Given the description of an element on the screen output the (x, y) to click on. 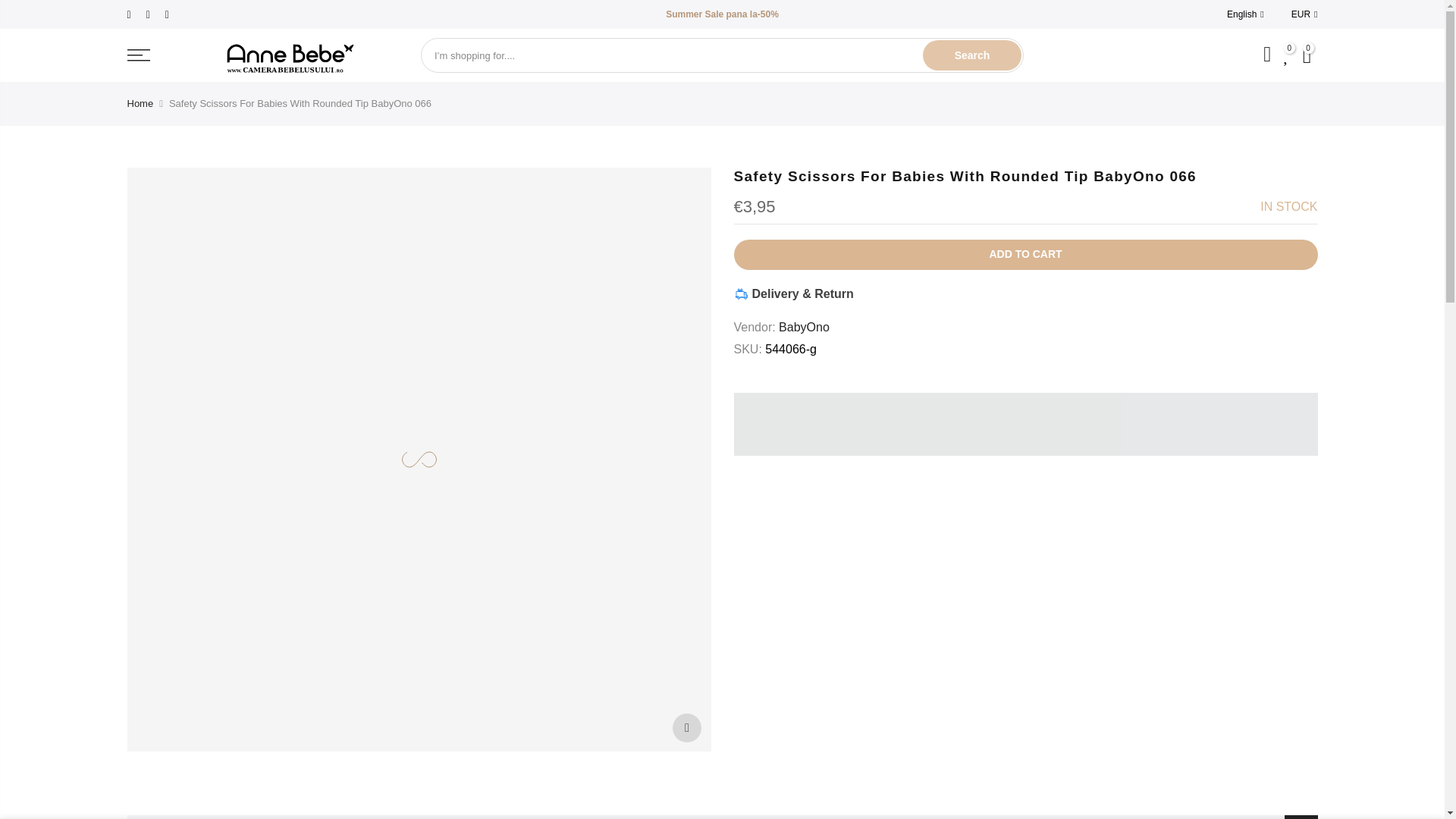
BabyOno (803, 327)
BabyOno (803, 327)
Search (972, 55)
ADD TO CART (1025, 254)
Home (141, 103)
